Given the description of an element on the screen output the (x, y) to click on. 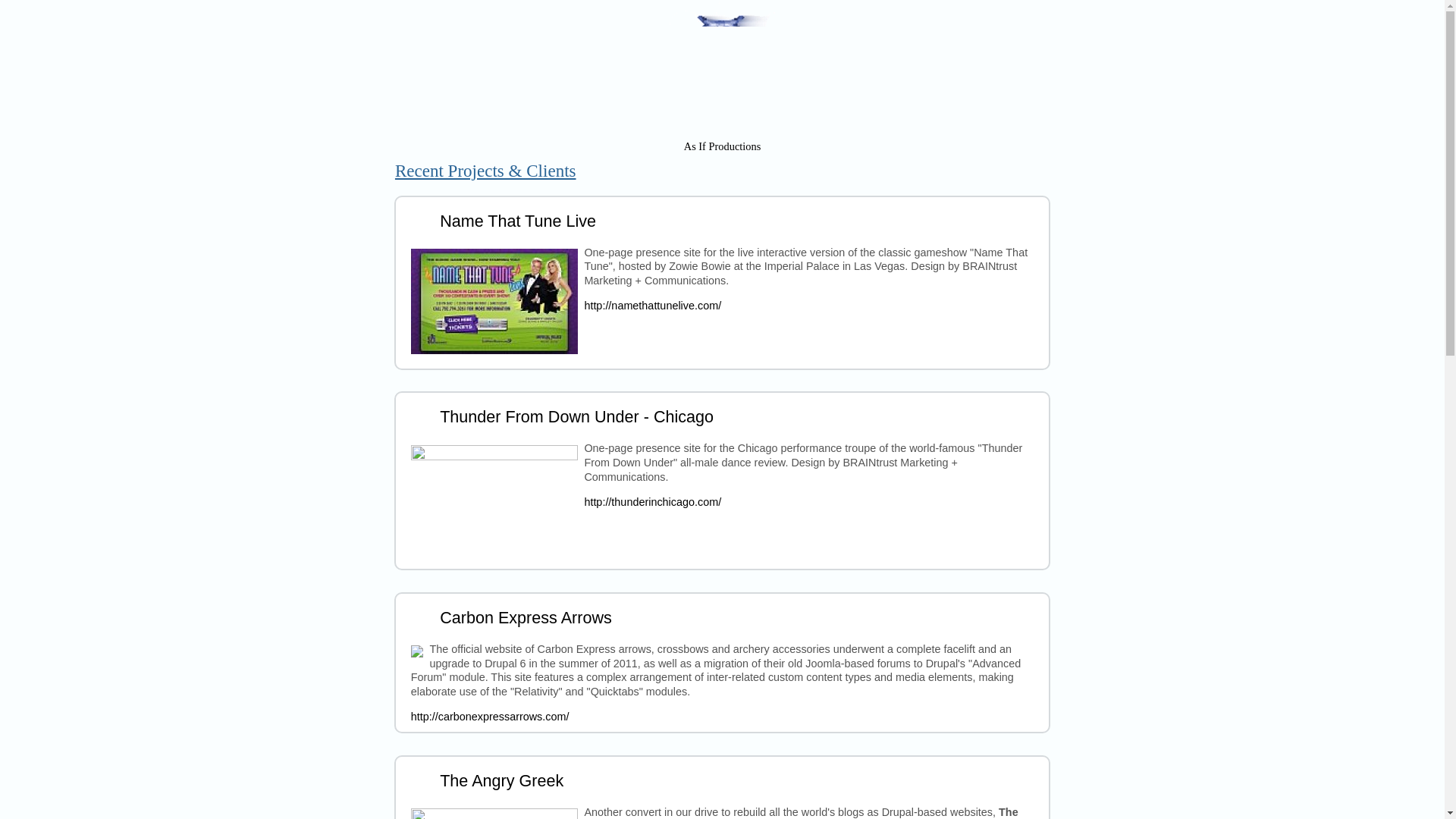
Home (722, 146)
Carbon Express Arrows (525, 617)
Skip to search (34, 0)
Home (721, 110)
Name That Tune Live (517, 220)
Thunder From Down Under - Chicago (576, 416)
The Angry Greek (501, 780)
As If Productions (722, 146)
